Given the description of an element on the screen output the (x, y) to click on. 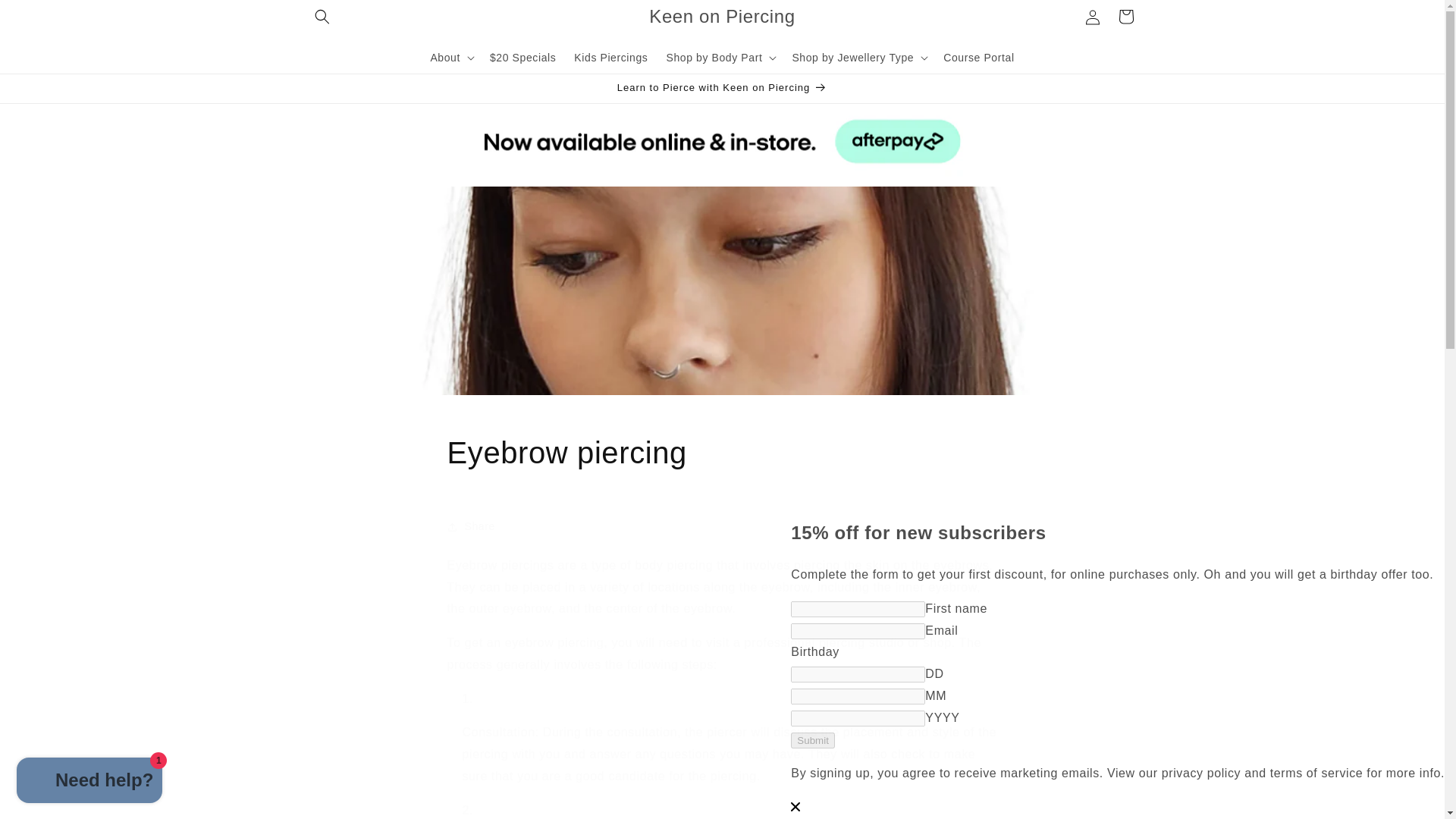
Eyebrow piercing (721, 452)
Skip to content (45, 17)
Shopify online store chat (89, 781)
Share (721, 526)
